Given the description of an element on the screen output the (x, y) to click on. 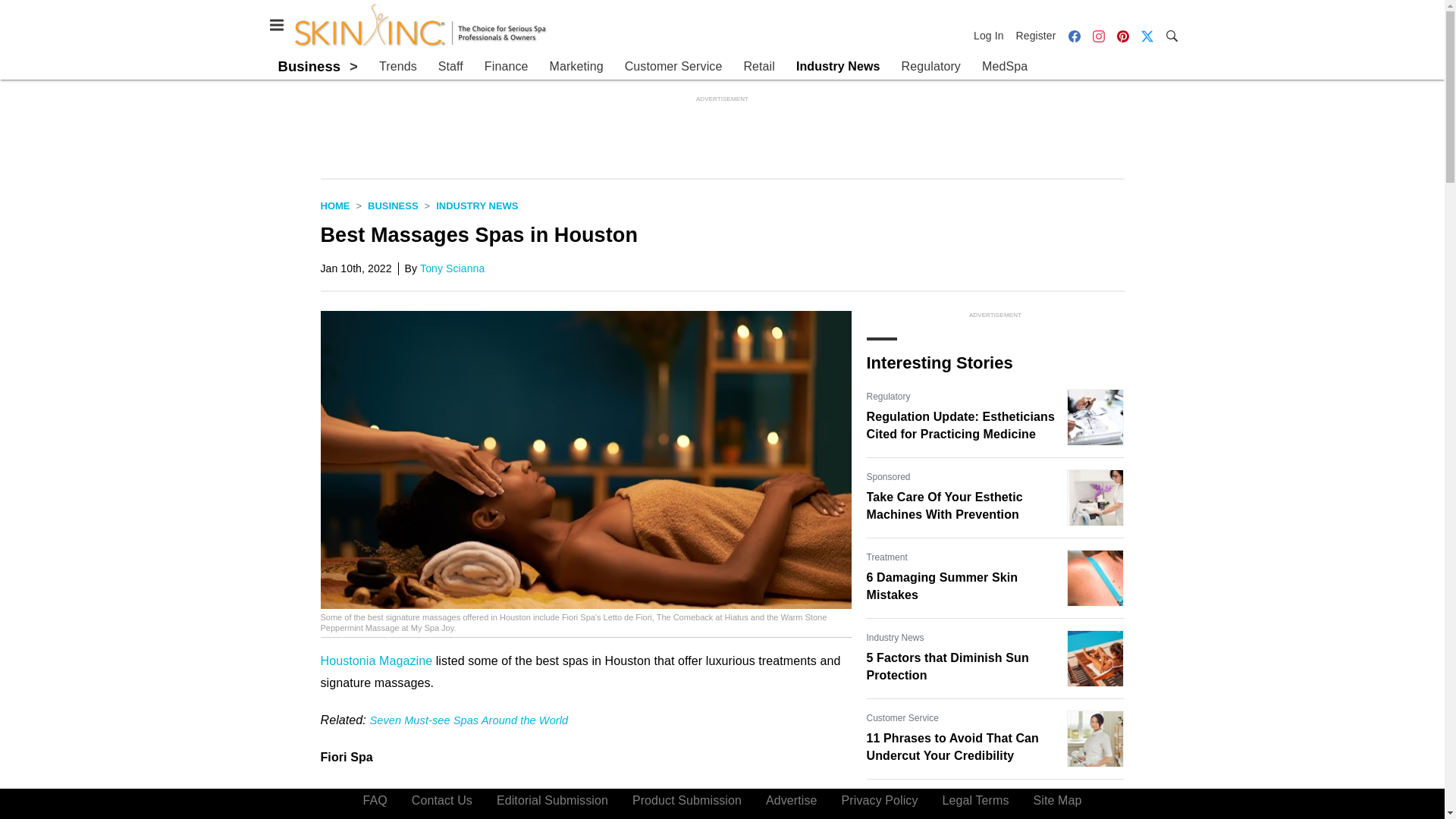
Industry News (476, 205)
Search (1170, 34)
Twitter X icon (1146, 35)
Register (1036, 35)
Business (392, 205)
Pinterest icon (1121, 35)
Finance (506, 66)
Retail (758, 66)
Treatment (886, 557)
Twitter X icon (1146, 36)
Instagram icon (1097, 36)
Pinterest icon (1122, 36)
Regulatory (930, 66)
Trends (397, 66)
Home (334, 205)
